Given the description of an element on the screen output the (x, y) to click on. 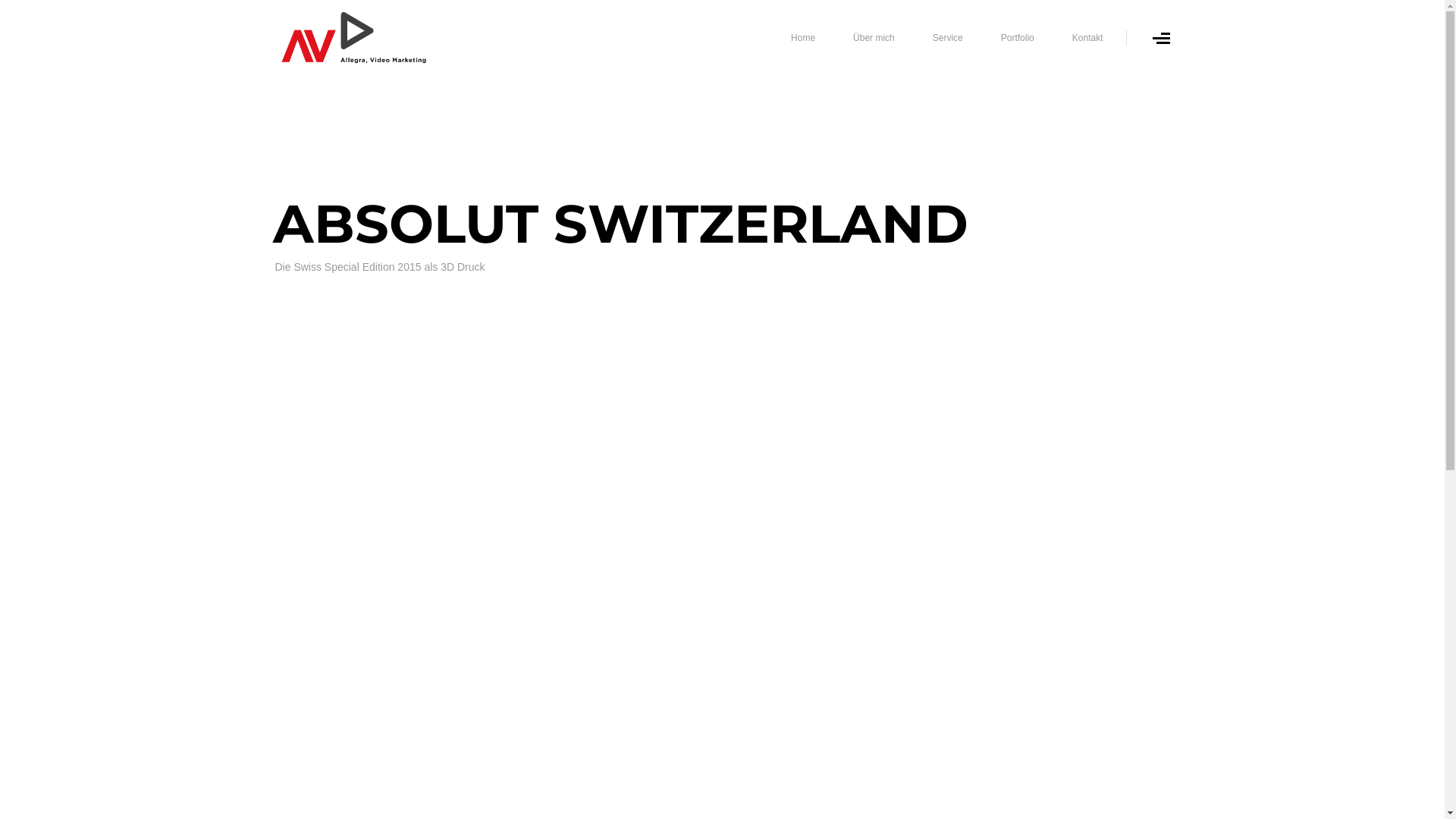
Portfolio Element type: text (1017, 37)
Home Element type: text (802, 37)
Kontakt Element type: text (1087, 37)
Service Element type: text (947, 37)
